Given the description of an element on the screen output the (x, y) to click on. 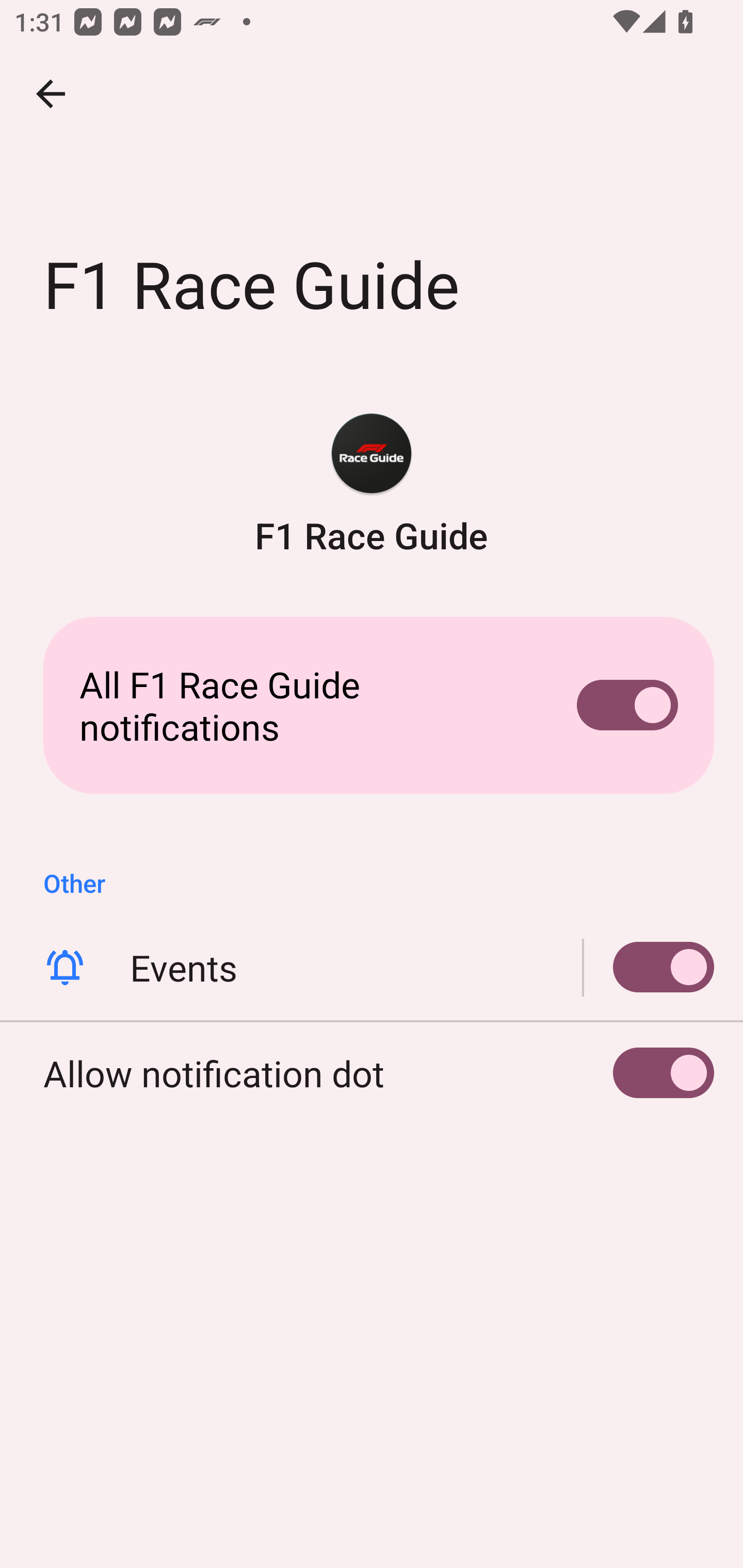
Navigate up (50, 93)
F1 Race Guide (371, 484)
All F1 Race Guide notifications (371, 705)
Events (371, 967)
Events (648, 967)
Allow notification dot (371, 1072)
